Given the description of an element on the screen output the (x, y) to click on. 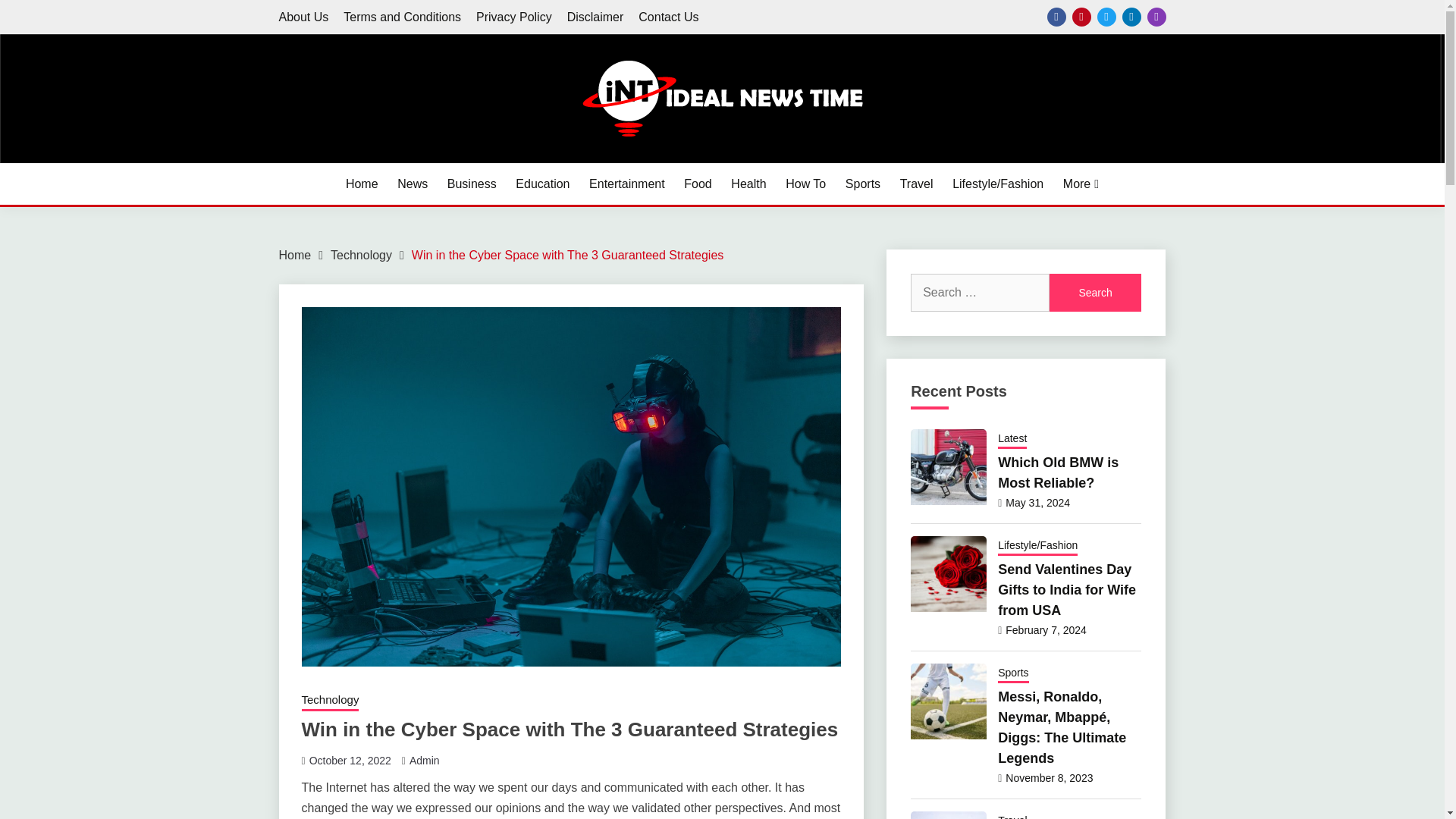
IDEAL NEWS TIME (403, 160)
Win in the Cyber Space with The 3 Guaranteed Strategies (567, 254)
October 12, 2022 (349, 760)
Business (471, 184)
Instagram (1156, 16)
Technology (360, 254)
Privacy Policy (513, 16)
Home (362, 184)
Technology (330, 701)
About Us (304, 16)
